Given the description of an element on the screen output the (x, y) to click on. 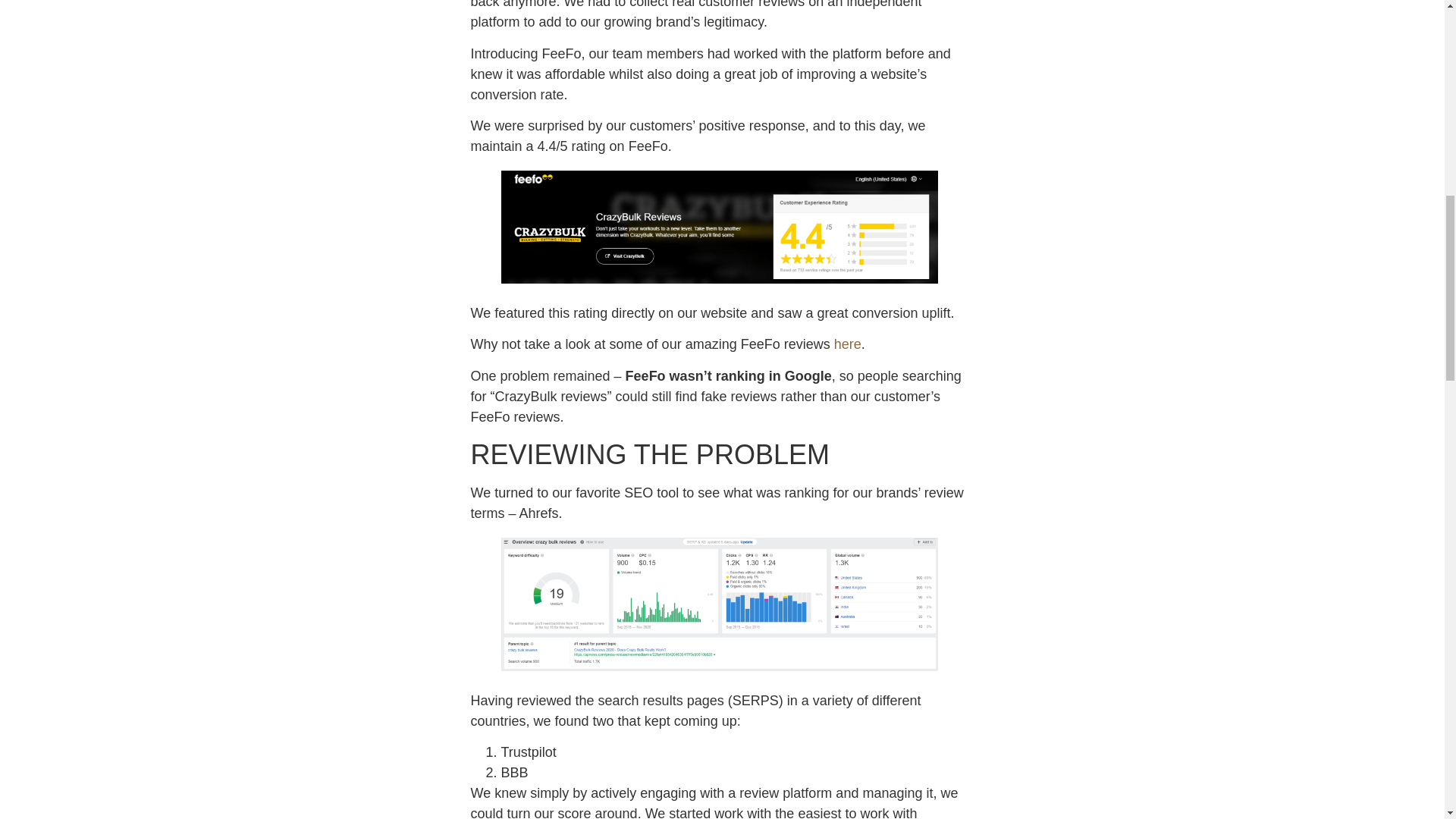
here (847, 344)
